Given the description of an element on the screen output the (x, y) to click on. 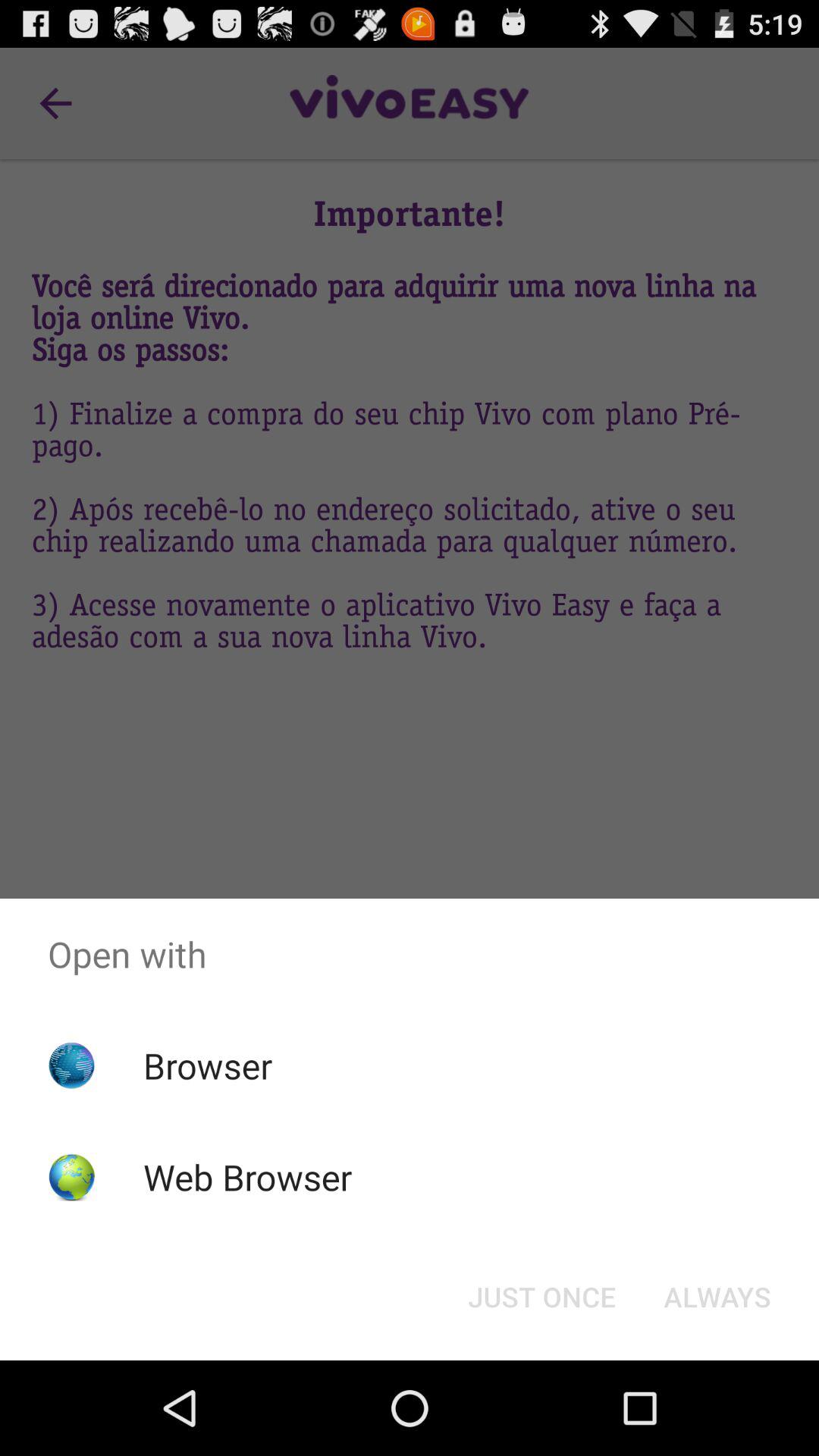
flip until web browser app (247, 1176)
